Given the description of an element on the screen output the (x, y) to click on. 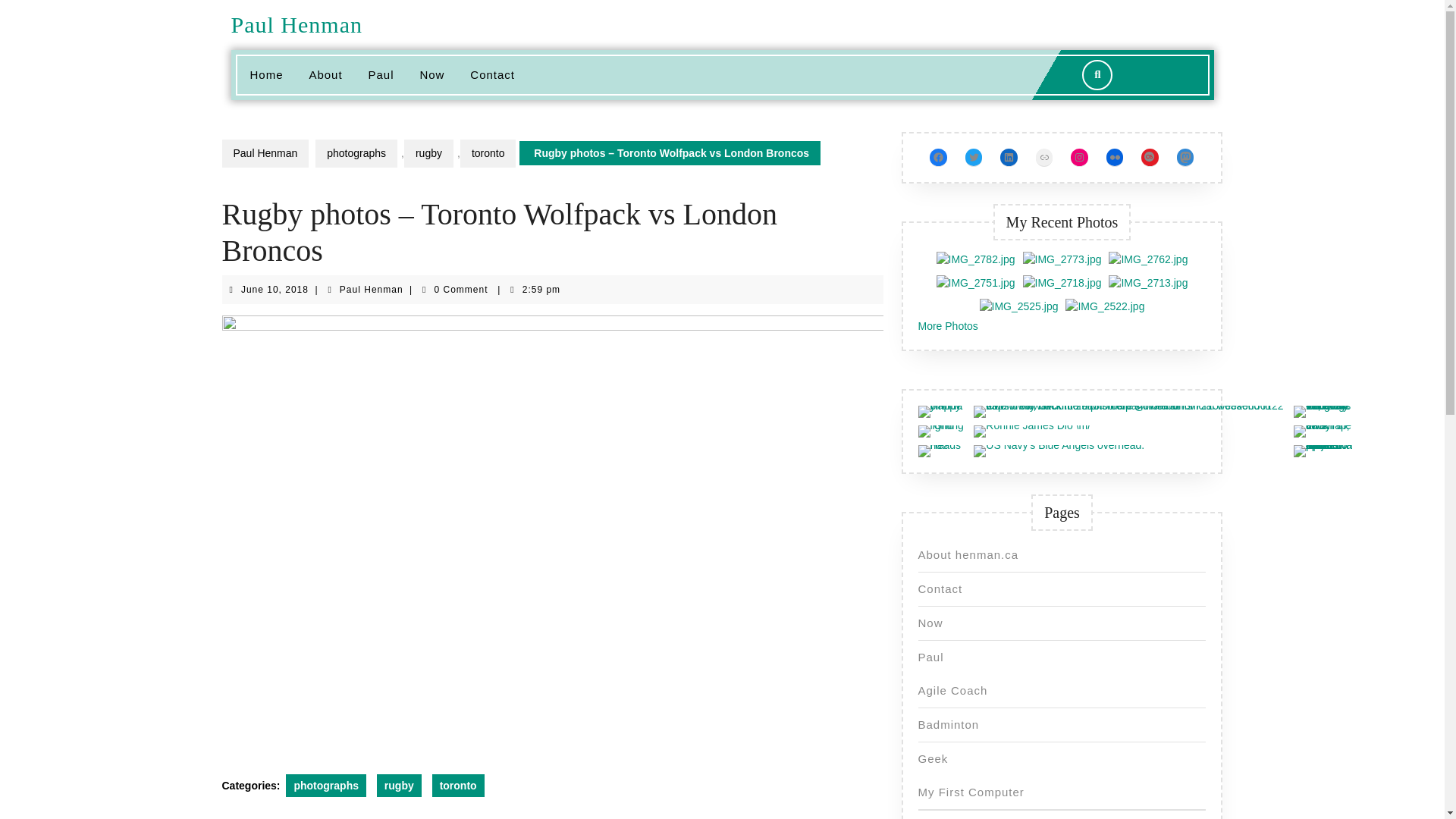
About (325, 75)
photographs (356, 153)
rugby (399, 784)
Paul Henman (295, 24)
Paul (380, 75)
photographs (325, 784)
toronto (488, 153)
Home (266, 75)
Now (431, 75)
rugby (428, 153)
Paul Henman (264, 153)
Contact (371, 289)
toronto (491, 75)
